Given the description of an element on the screen output the (x, y) to click on. 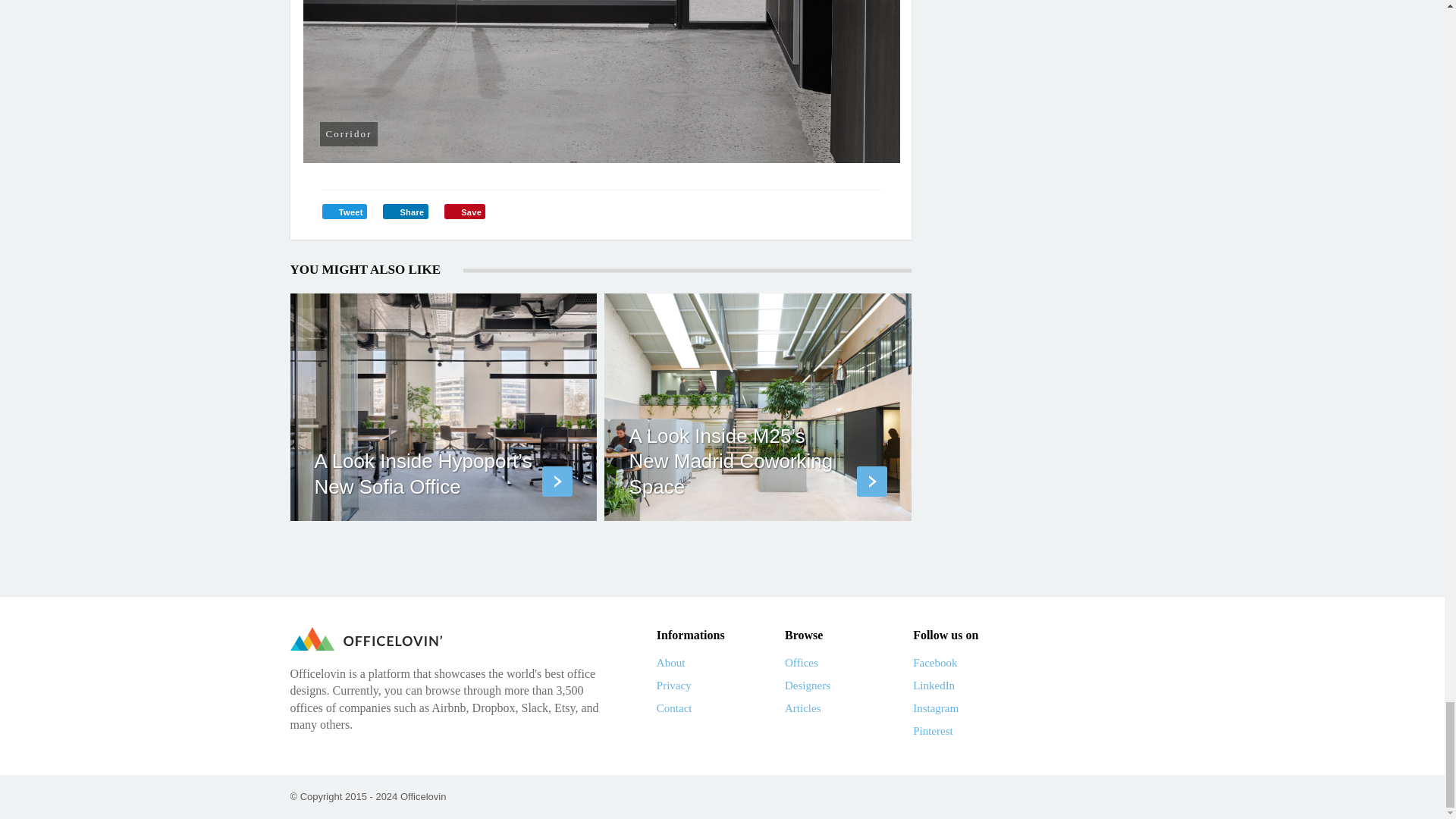
Share link on Twitter (343, 211)
Corridor (601, 81)
Share link on LinkedIn (405, 211)
